Given the description of an element on the screen output the (x, y) to click on. 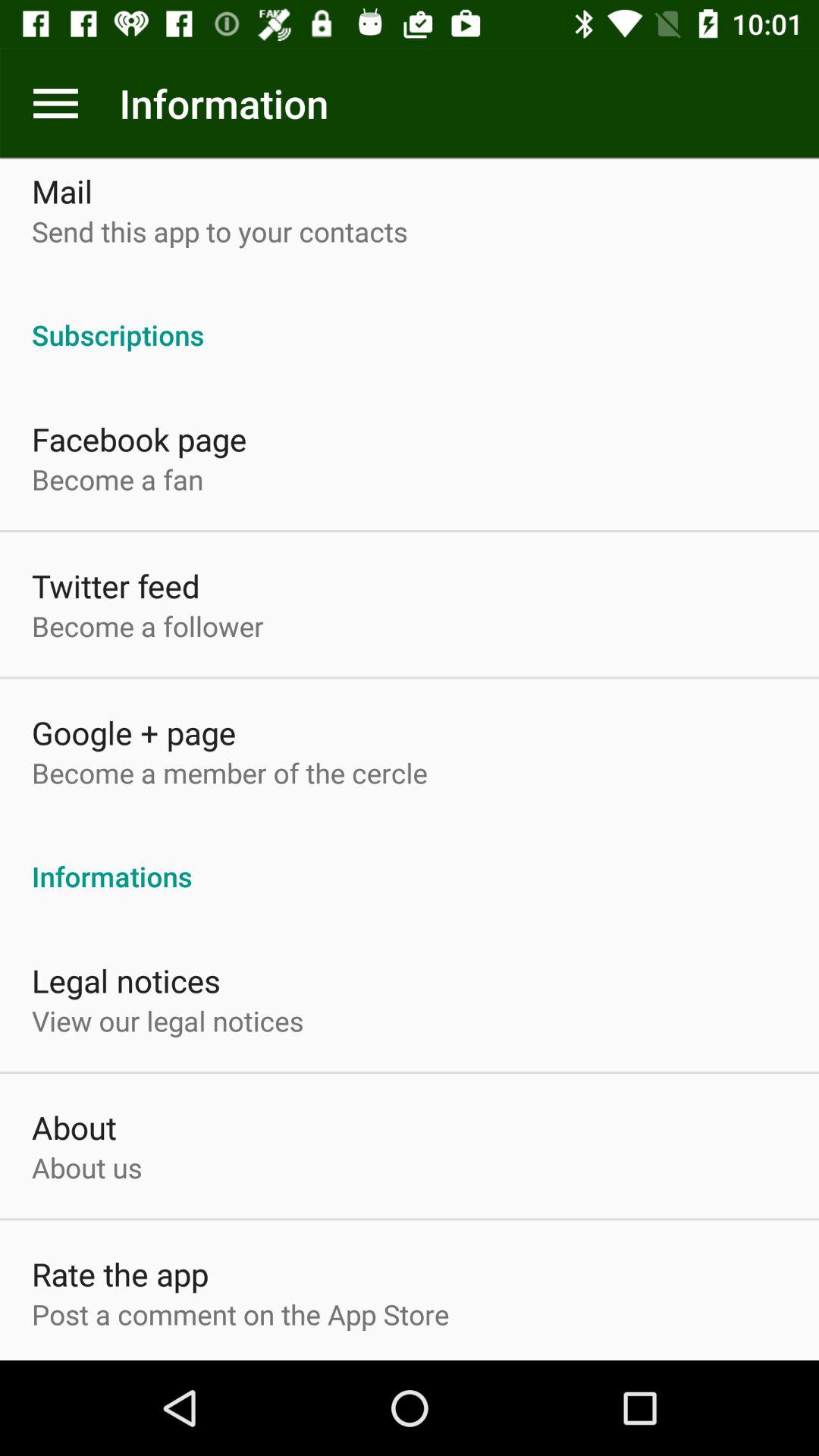
turn on the subscriptions icon (409, 318)
